Given the description of an element on the screen output the (x, y) to click on. 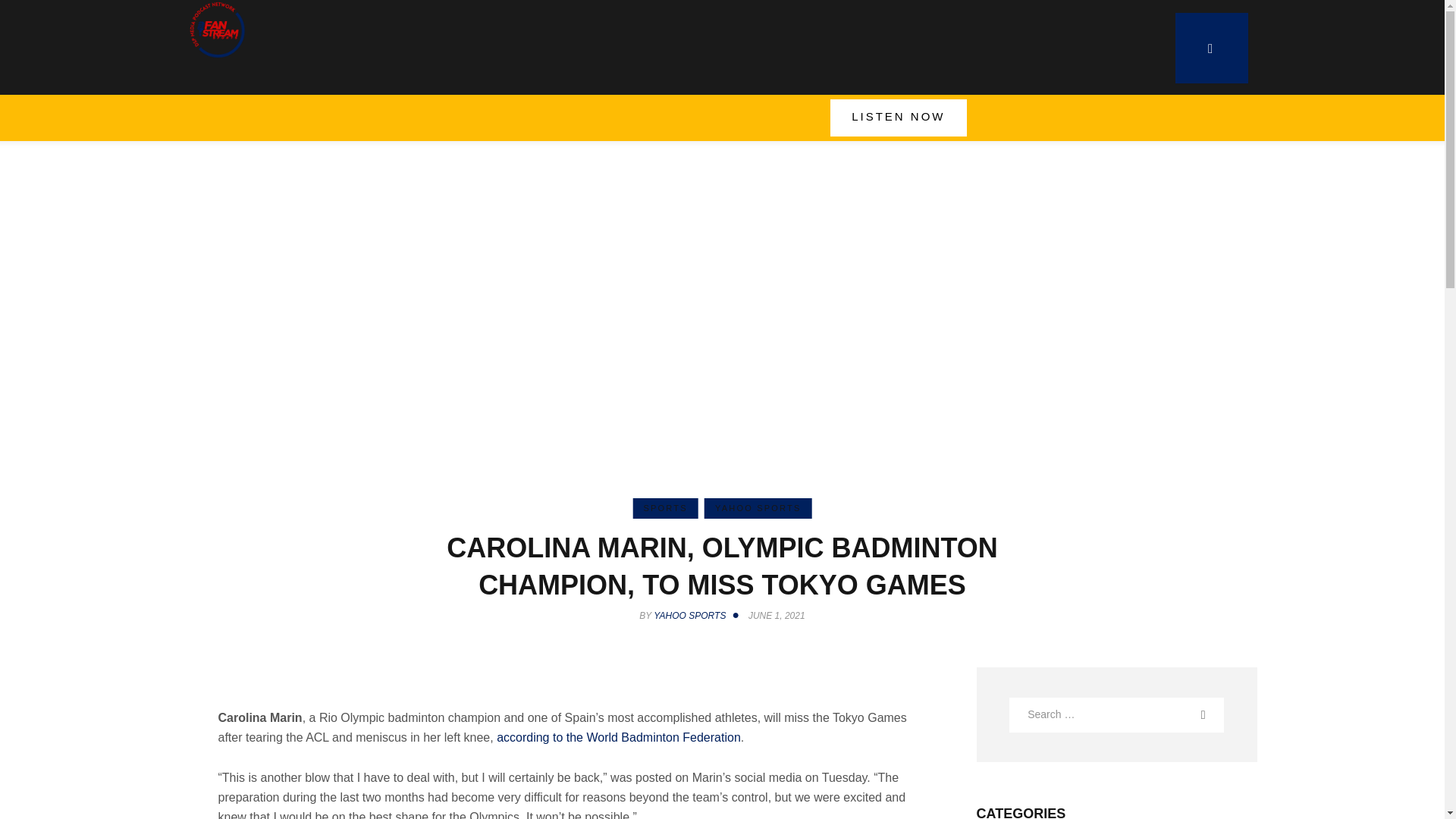
SPORTS (664, 507)
BY YAHOO SPORTS (692, 615)
YAHOO SPORTS (757, 507)
LISTEN NOW (897, 117)
